Given the description of an element on the screen output the (x, y) to click on. 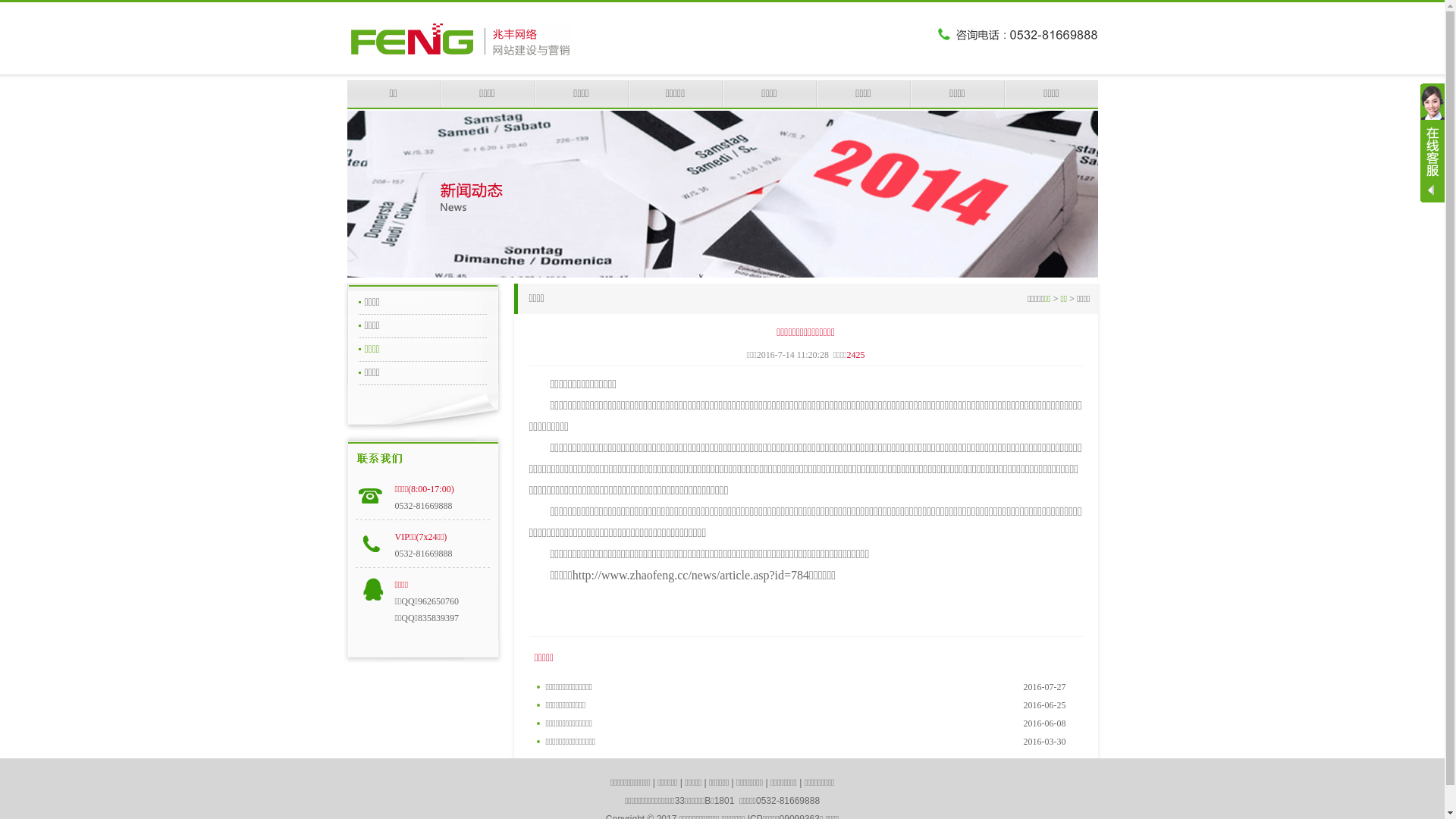
962650760 Element type: text (437, 601)
835839397 Element type: text (437, 617)
http://www.zhaofeng.cc/news/article.asp?id=784 Element type: text (690, 574)
